Given the description of an element on the screen output the (x, y) to click on. 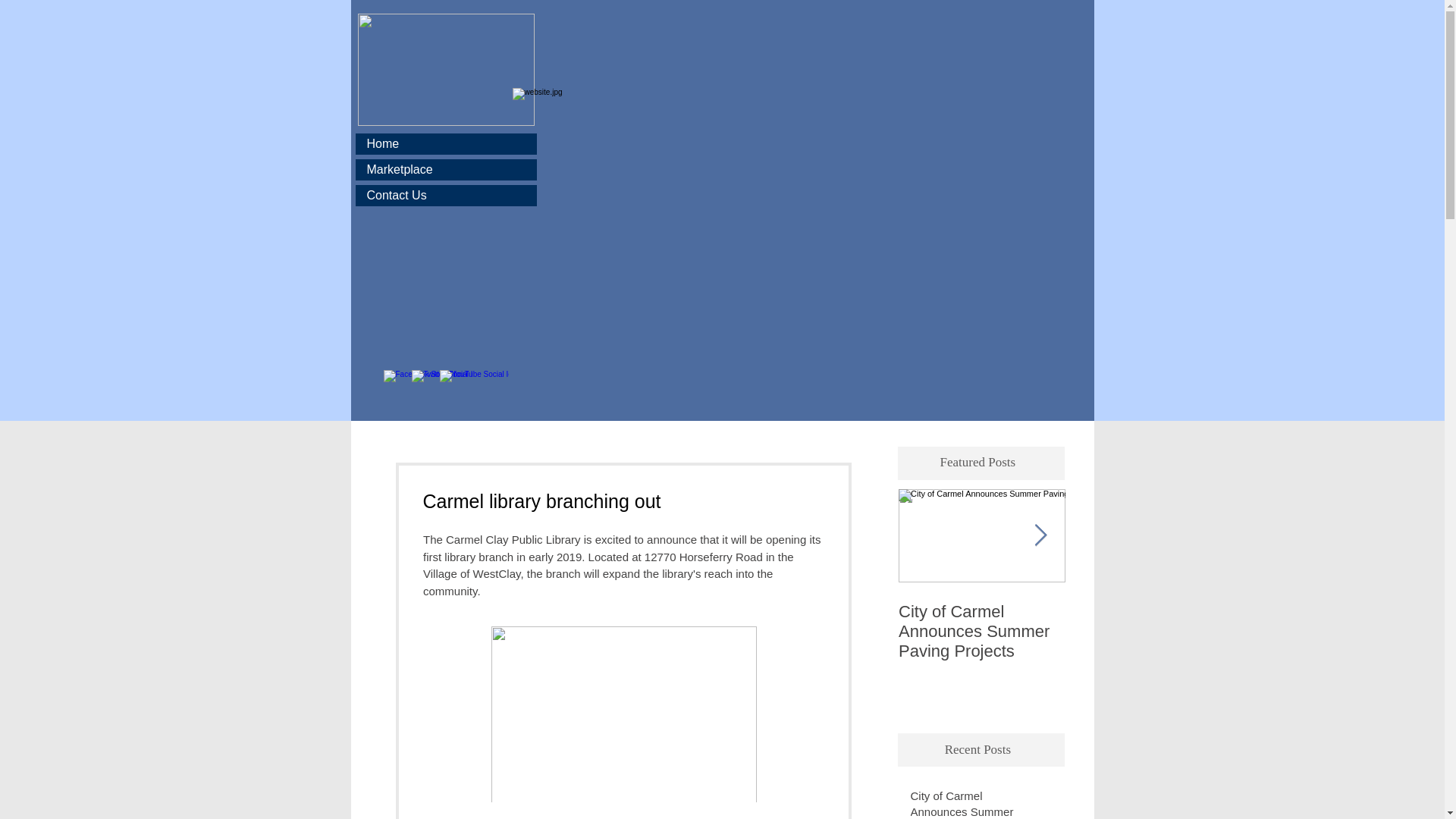
Contact Us (445, 195)
City of Carmel Announces Summer Paving Projects (972, 803)
Home (445, 143)
Feed the Frontlines Carmel (1147, 621)
Marketplace (445, 169)
City of Carmel Announces Summer Paving Projects (981, 630)
